Given the description of an element on the screen output the (x, y) to click on. 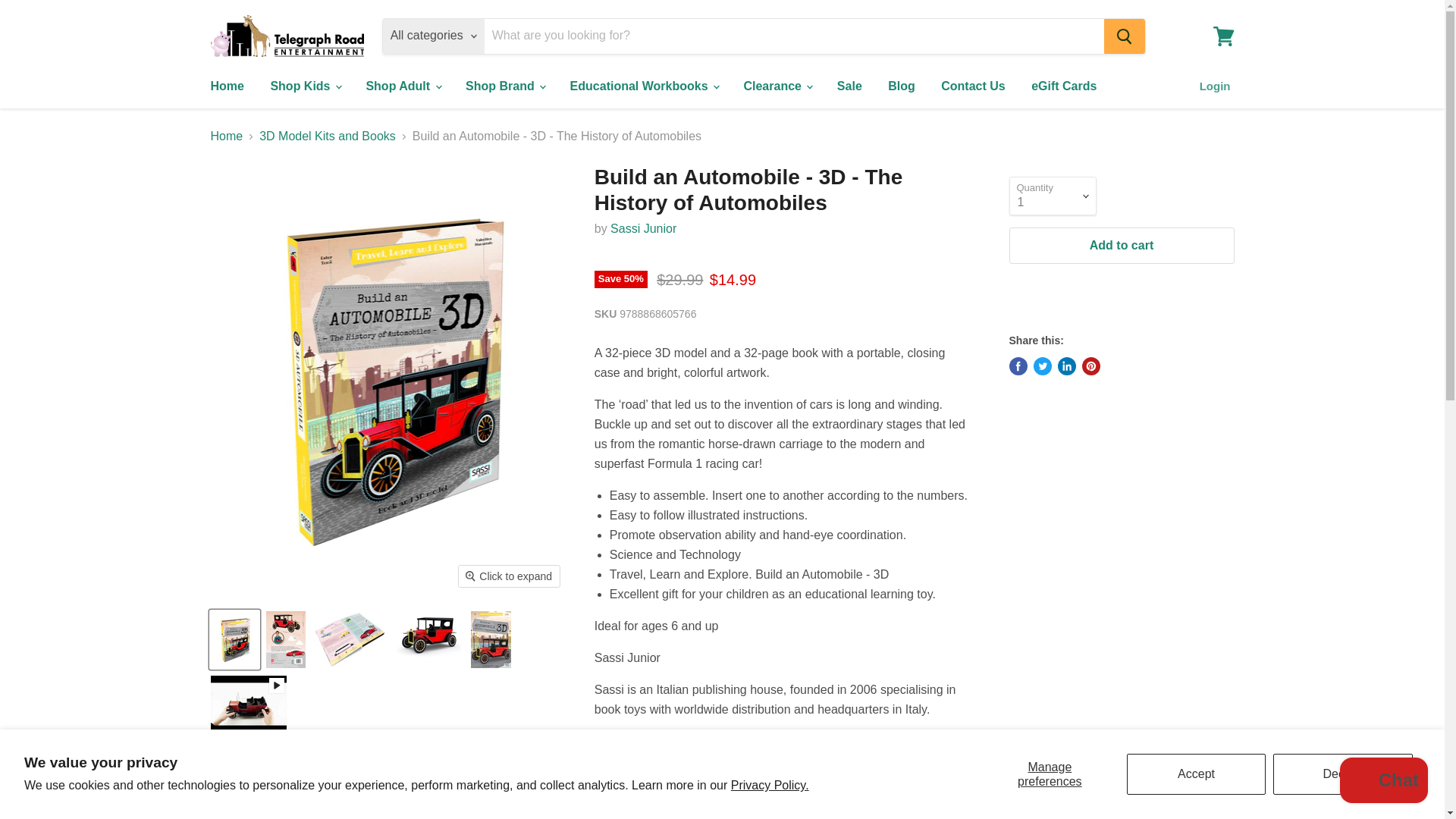
Home (226, 86)
Manage preferences (1049, 773)
Accept (1196, 773)
Shop Kids (304, 86)
View cart (1223, 35)
Privacy Policy. (769, 784)
Shop Adult (401, 86)
Decline (1342, 773)
Sassi Junior (643, 228)
